Given the description of an element on the screen output the (x, y) to click on. 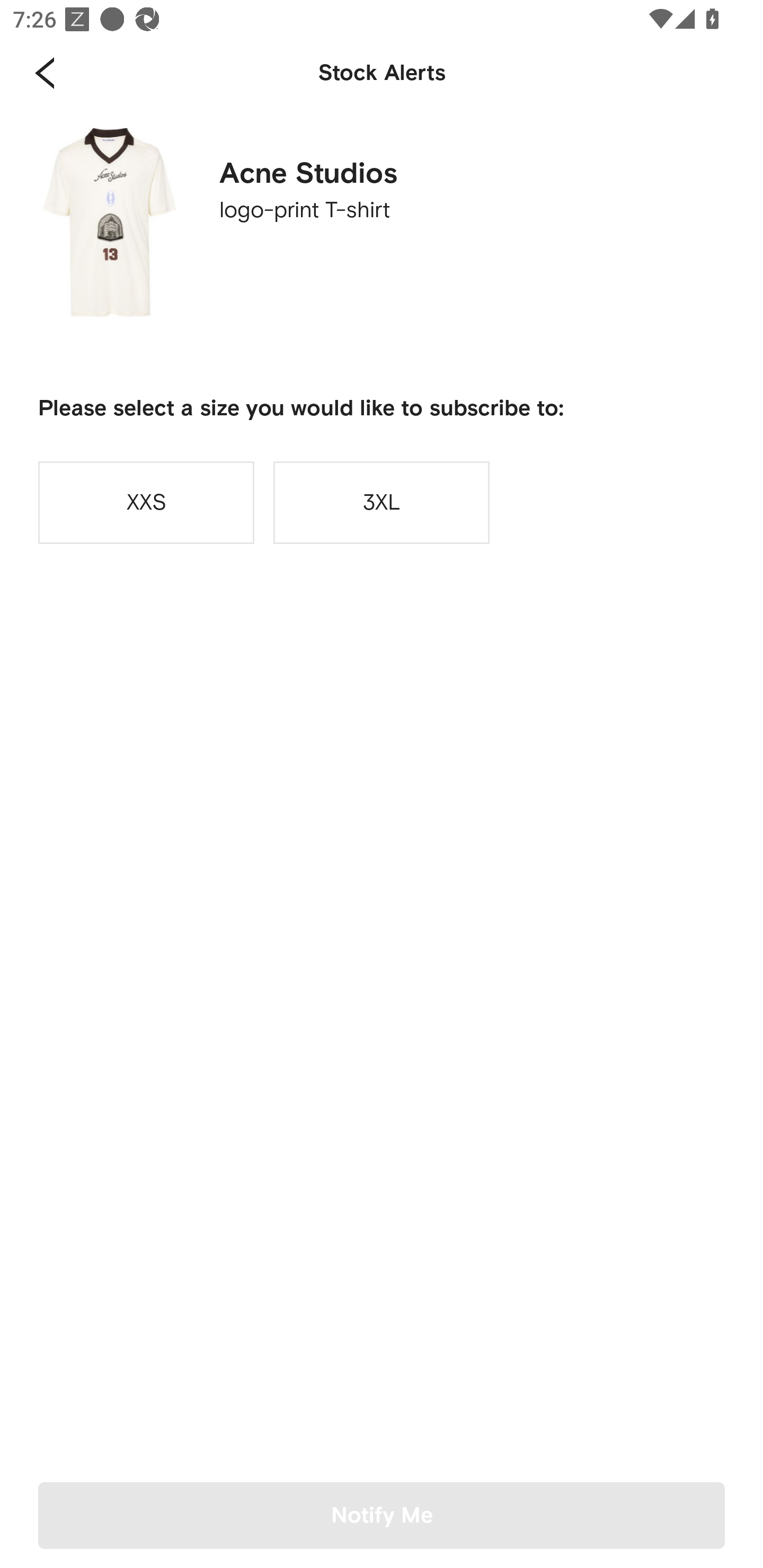
XXS (146, 502)
3XL (381, 502)
Notify Me (381, 1515)
